Given the description of an element on the screen output the (x, y) to click on. 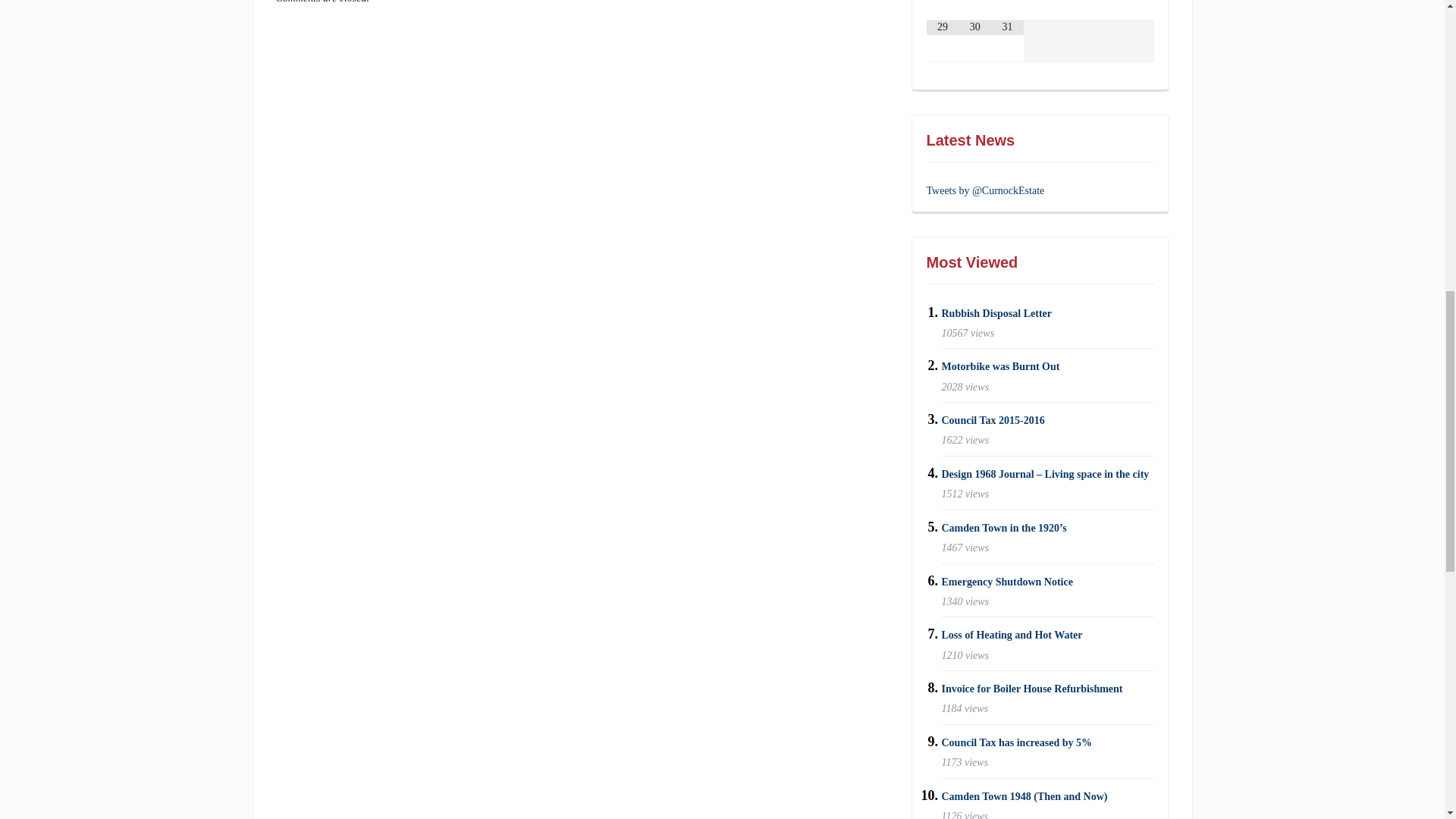
Permanent Link to Rubbish Disposal Letter (996, 313)
Permanent Link to Council Tax 2015-2016 (993, 419)
Permanent Link to Motorbike was Burnt Out (1000, 367)
Permanent Link to Emergency Shutdown Notice (1007, 582)
